Given the description of an element on the screen output the (x, y) to click on. 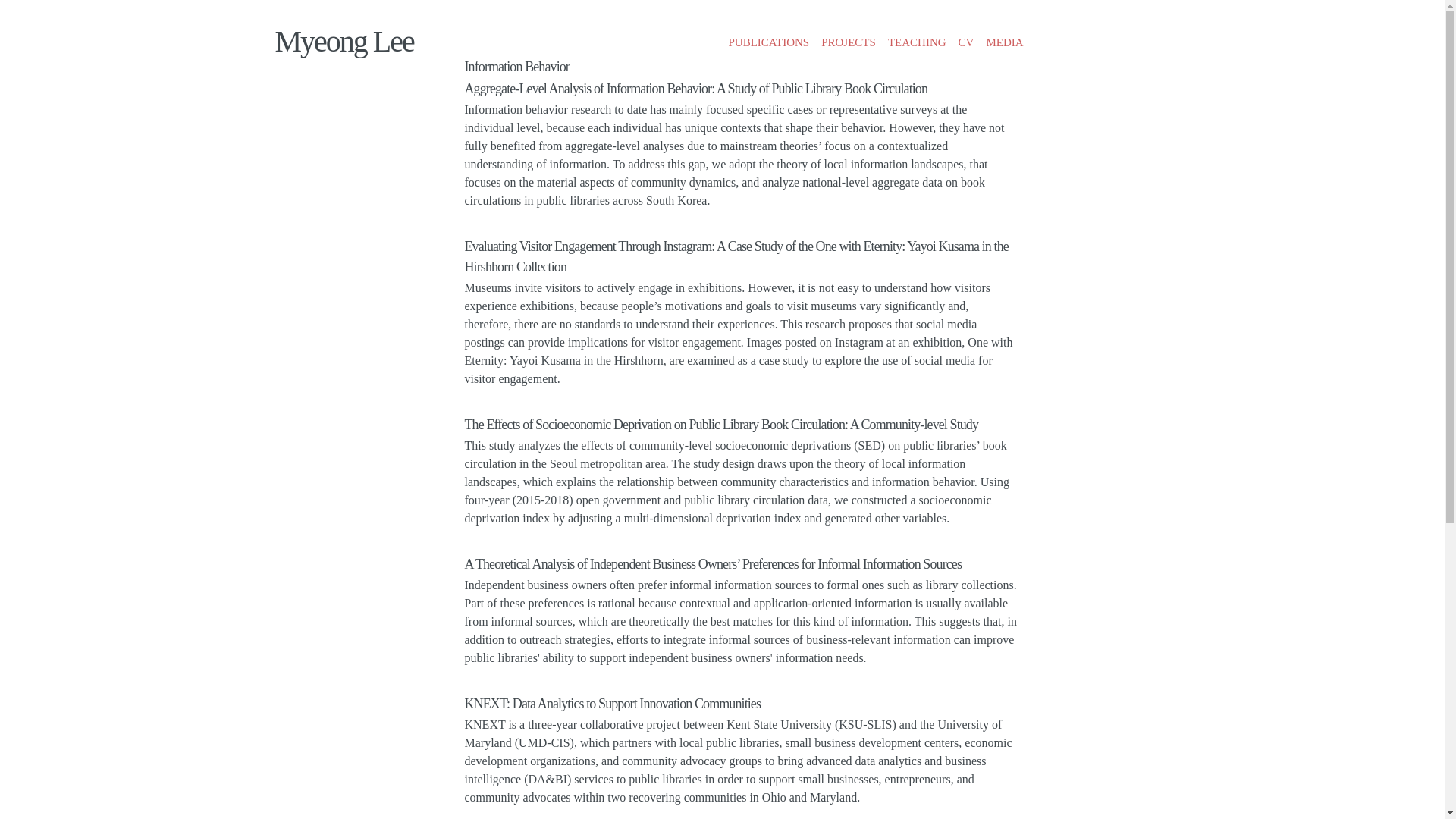
TEACHING (917, 42)
CV (965, 42)
PROJECTS (848, 42)
Home (344, 41)
KNEXT: Data Analytics to Support Innovation Communities (612, 703)
PUBLICATIONS (768, 42)
Myeong Lee (344, 41)
Skip to main content (683, 12)
MEDIA (1004, 42)
